Given the description of an element on the screen output the (x, y) to click on. 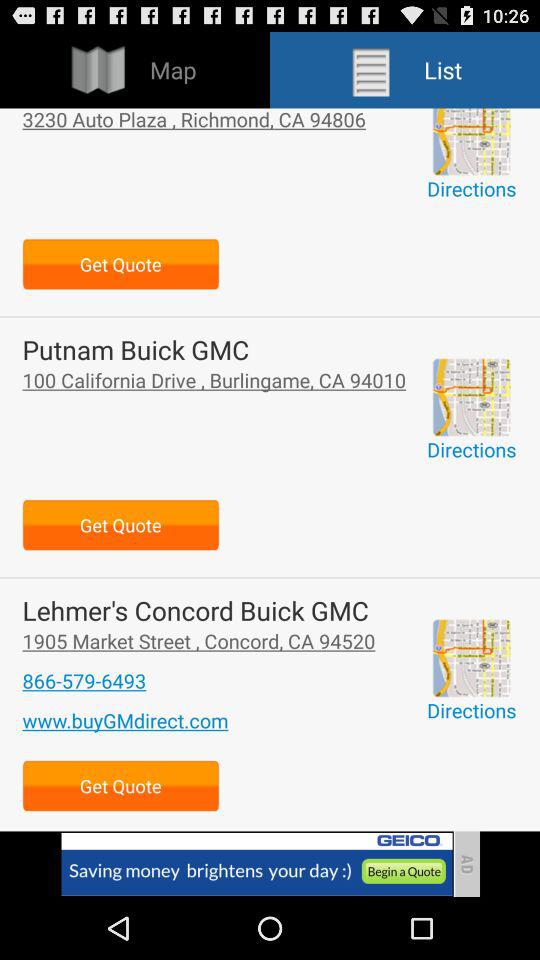
advertisement (256, 864)
